Given the description of an element on the screen output the (x, y) to click on. 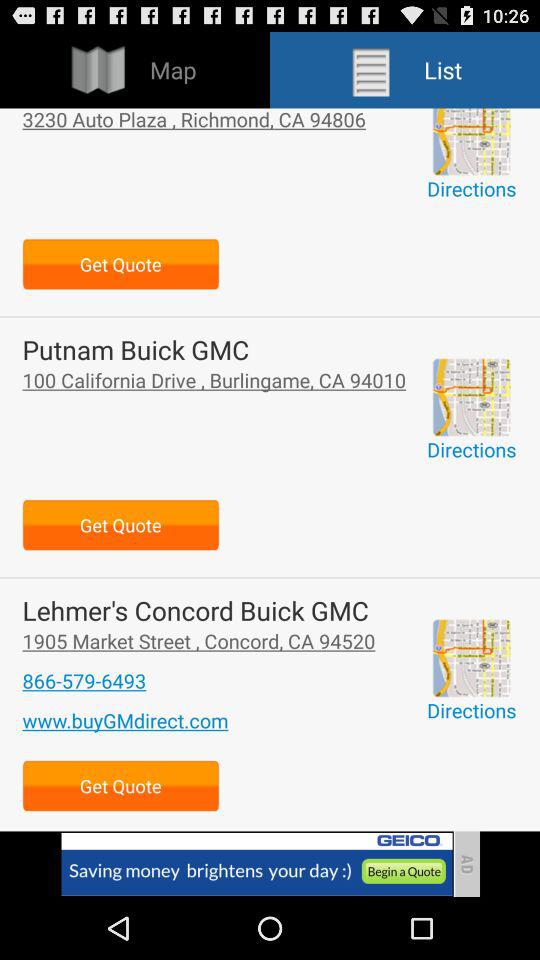
advertisement (256, 864)
